Given the description of an element on the screen output the (x, y) to click on. 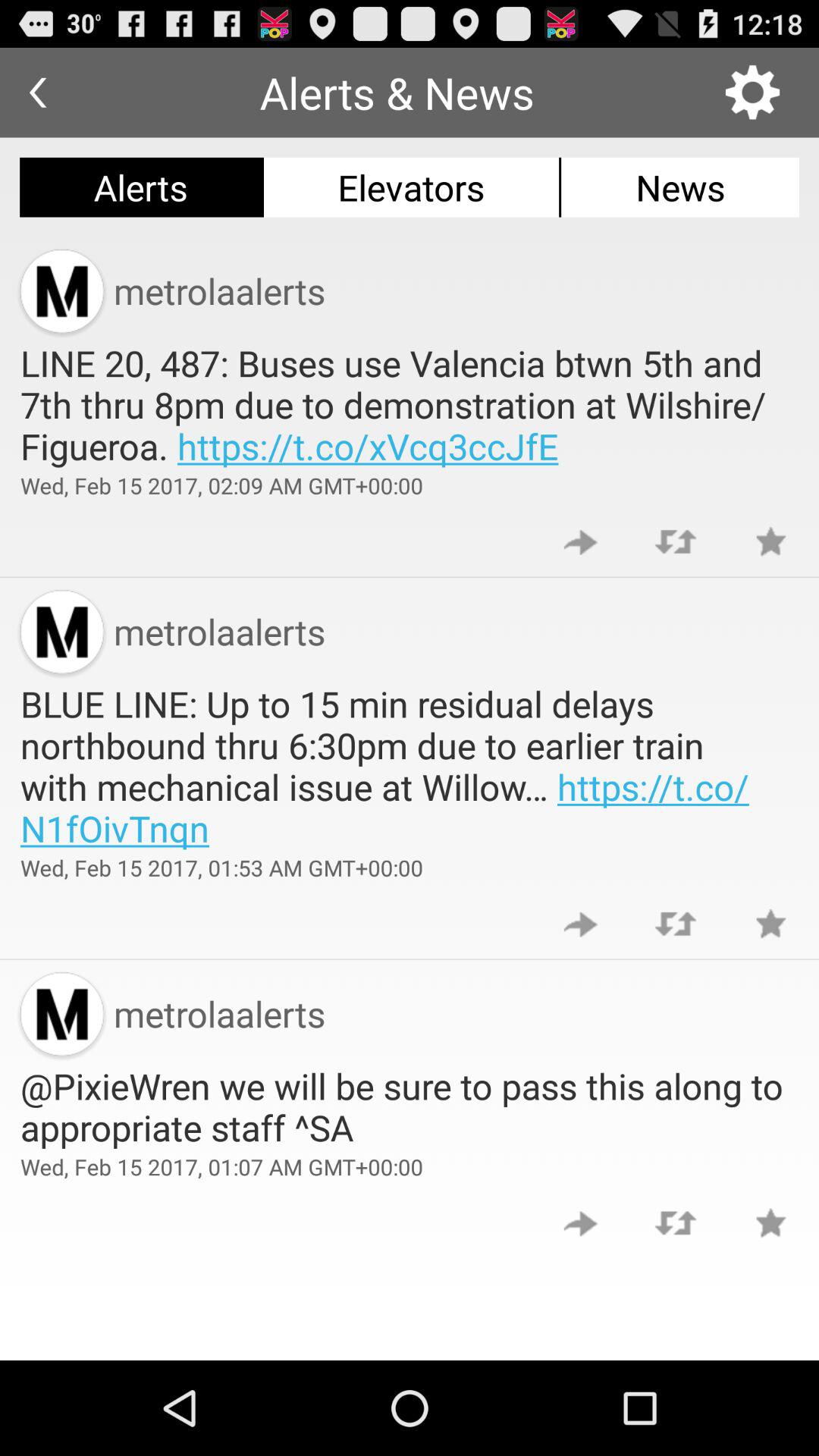
swipe to elevators (411, 187)
